Given the description of an element on the screen output the (x, y) to click on. 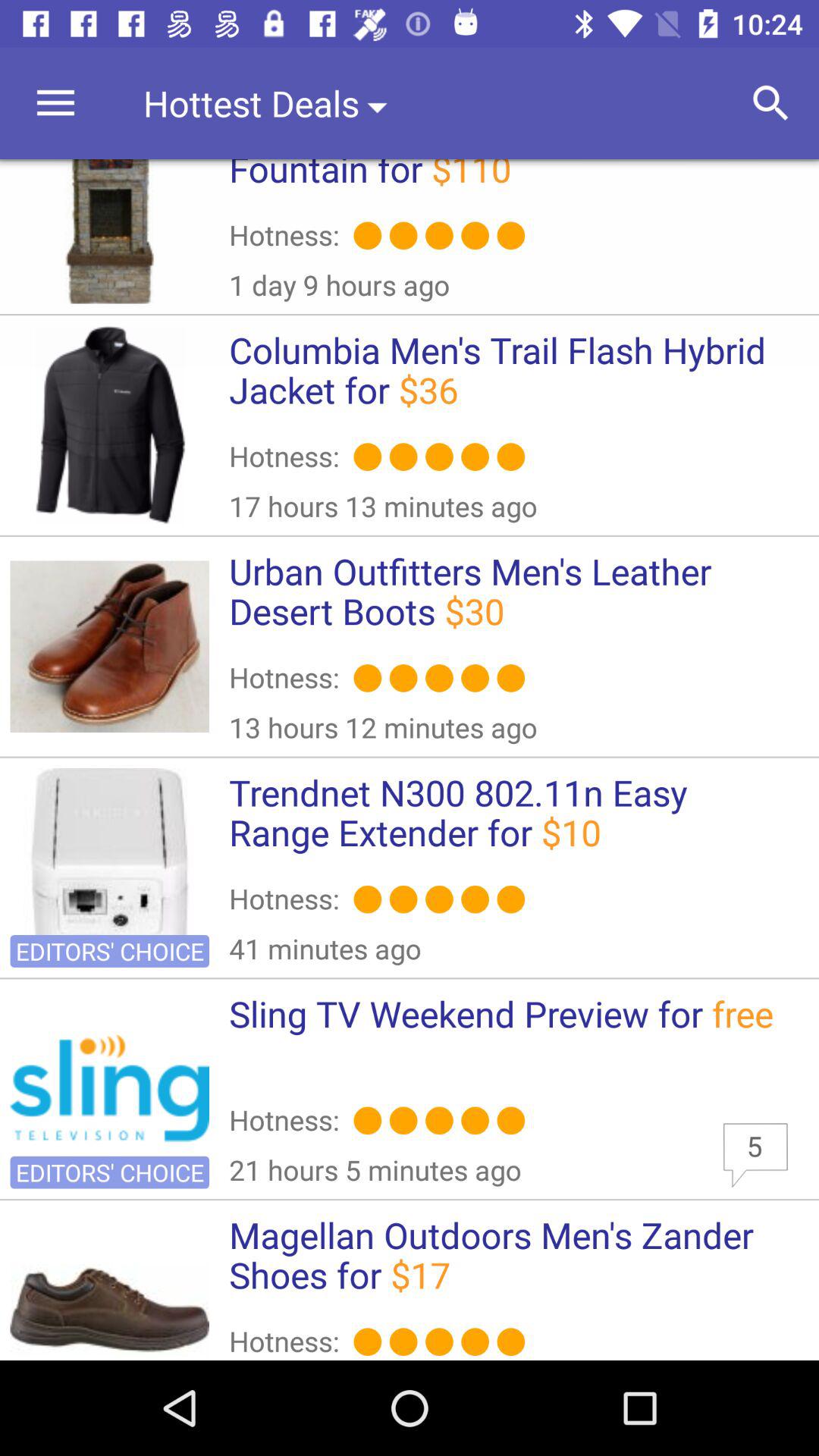
click menu option (55, 103)
